Given the description of an element on the screen output the (x, y) to click on. 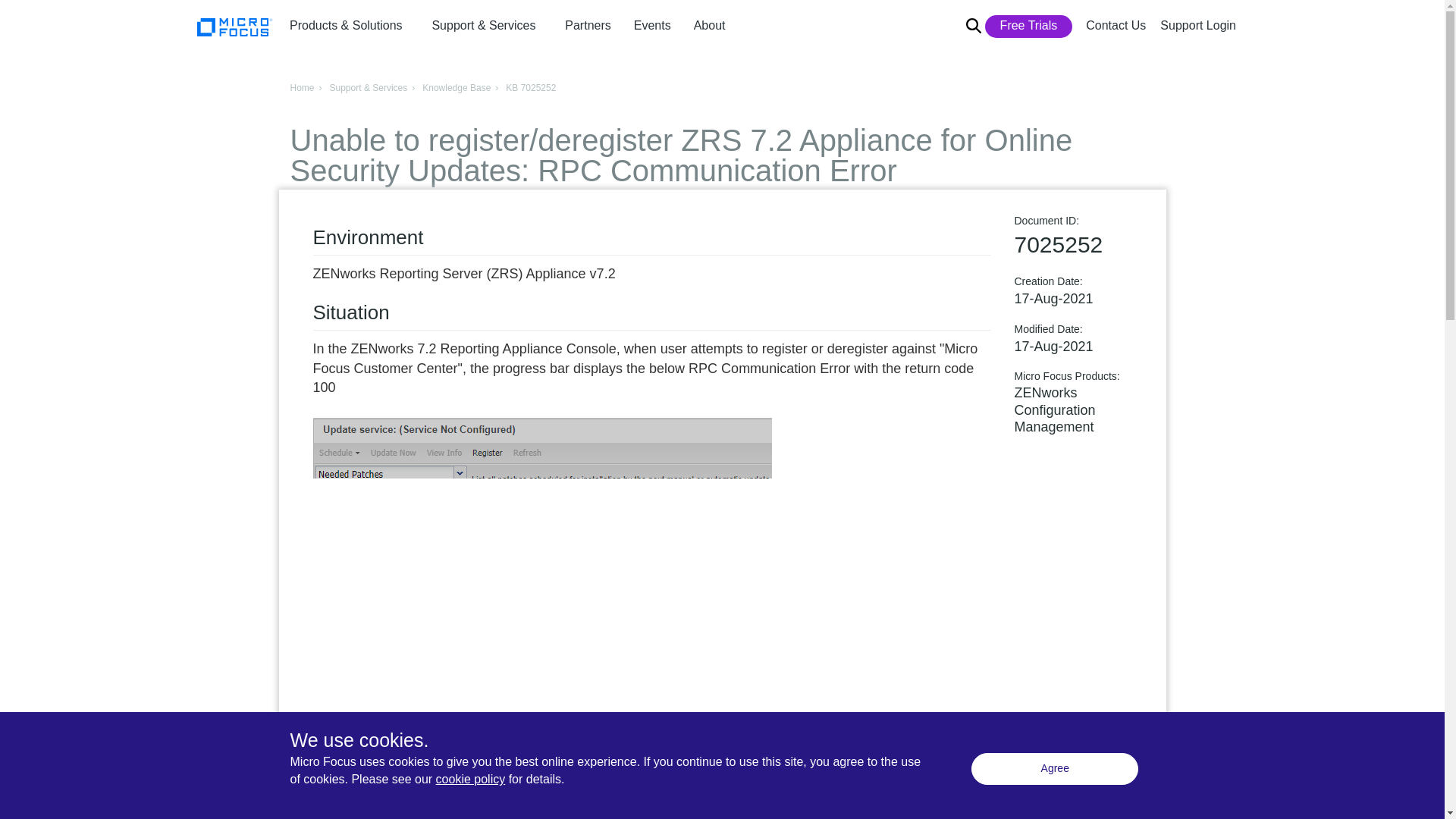
Agree (1054, 768)
cookie policy (470, 779)
